Given the description of an element on the screen output the (x, y) to click on. 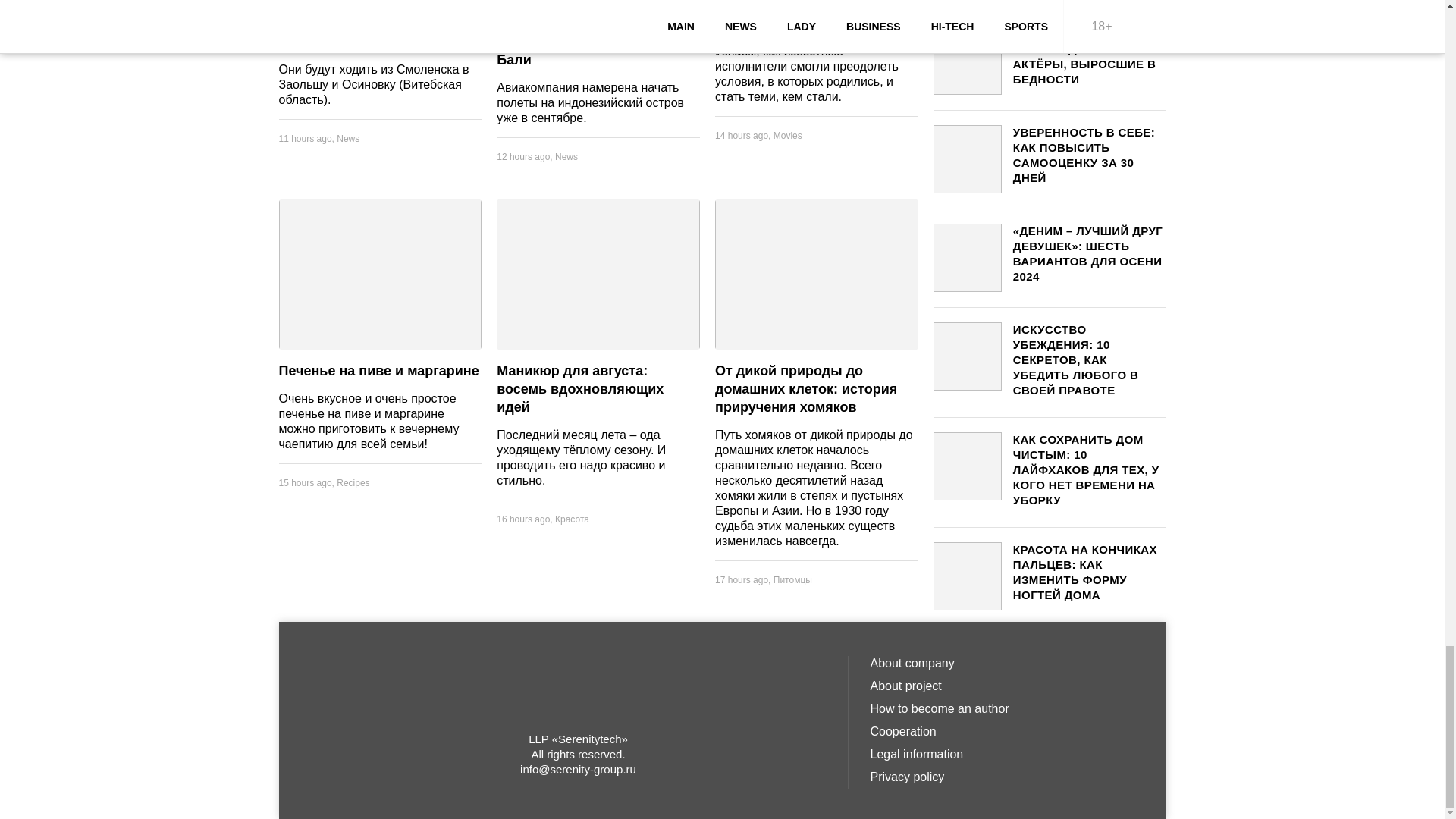
Cooperation (1007, 731)
About project (1007, 685)
Legal information (1007, 753)
How to become an author (1007, 708)
Privacy policy (1007, 776)
About company (1007, 662)
